Given the description of an element on the screen output the (x, y) to click on. 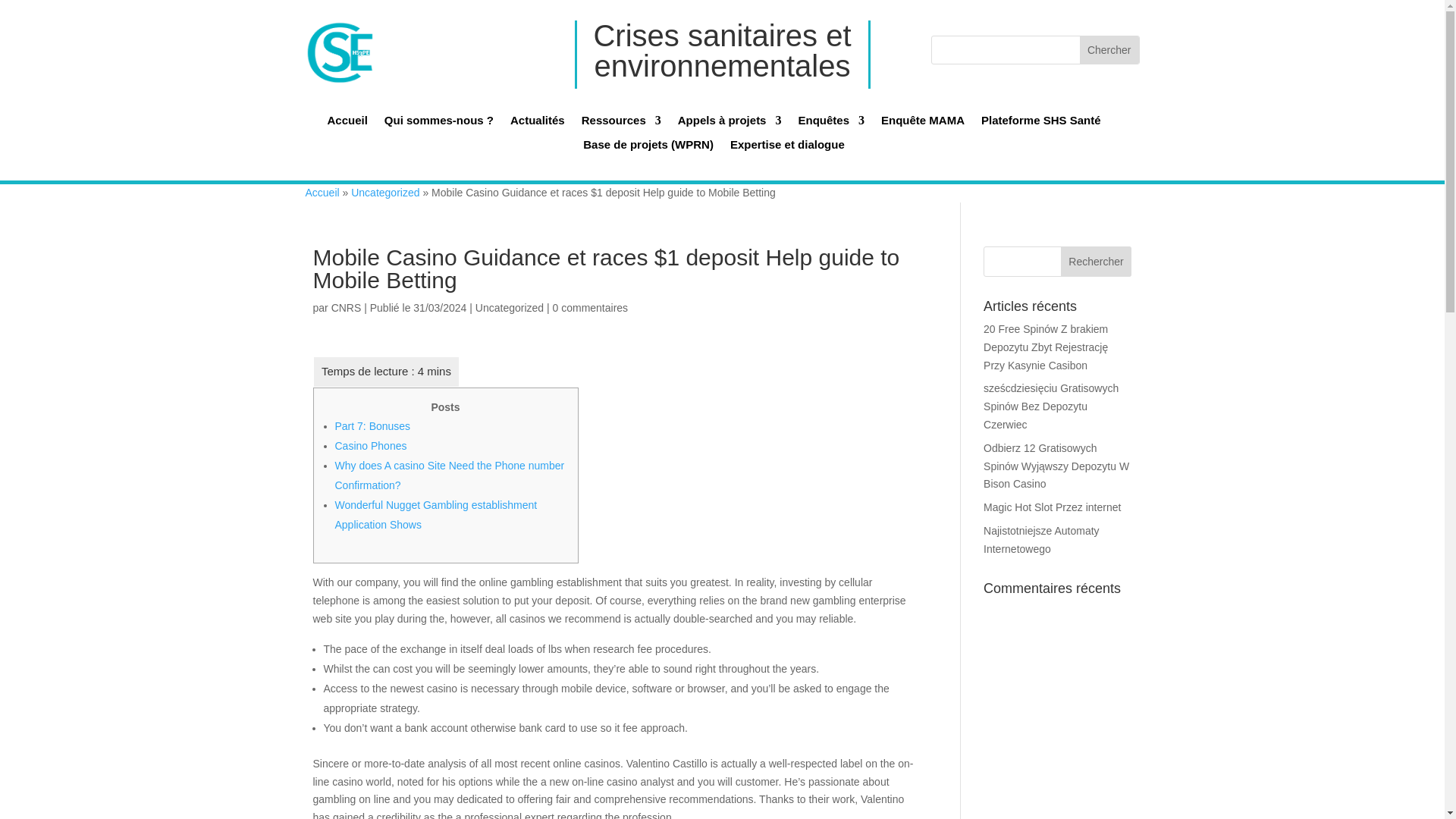
Articles de CNRS (346, 307)
logoHS3PE copie (339, 52)
Accueil (346, 124)
logoHS3PE copie (325, 39)
Chercher (1109, 49)
Ressources (620, 124)
Expertise et dialogue (787, 148)
Chercher (1109, 34)
Qui sommes-nous ? (438, 124)
Chercher (1109, 49)
Rechercher (1096, 261)
Chercher (1109, 34)
Chercher (1109, 49)
